Given the description of an element on the screen output the (x, y) to click on. 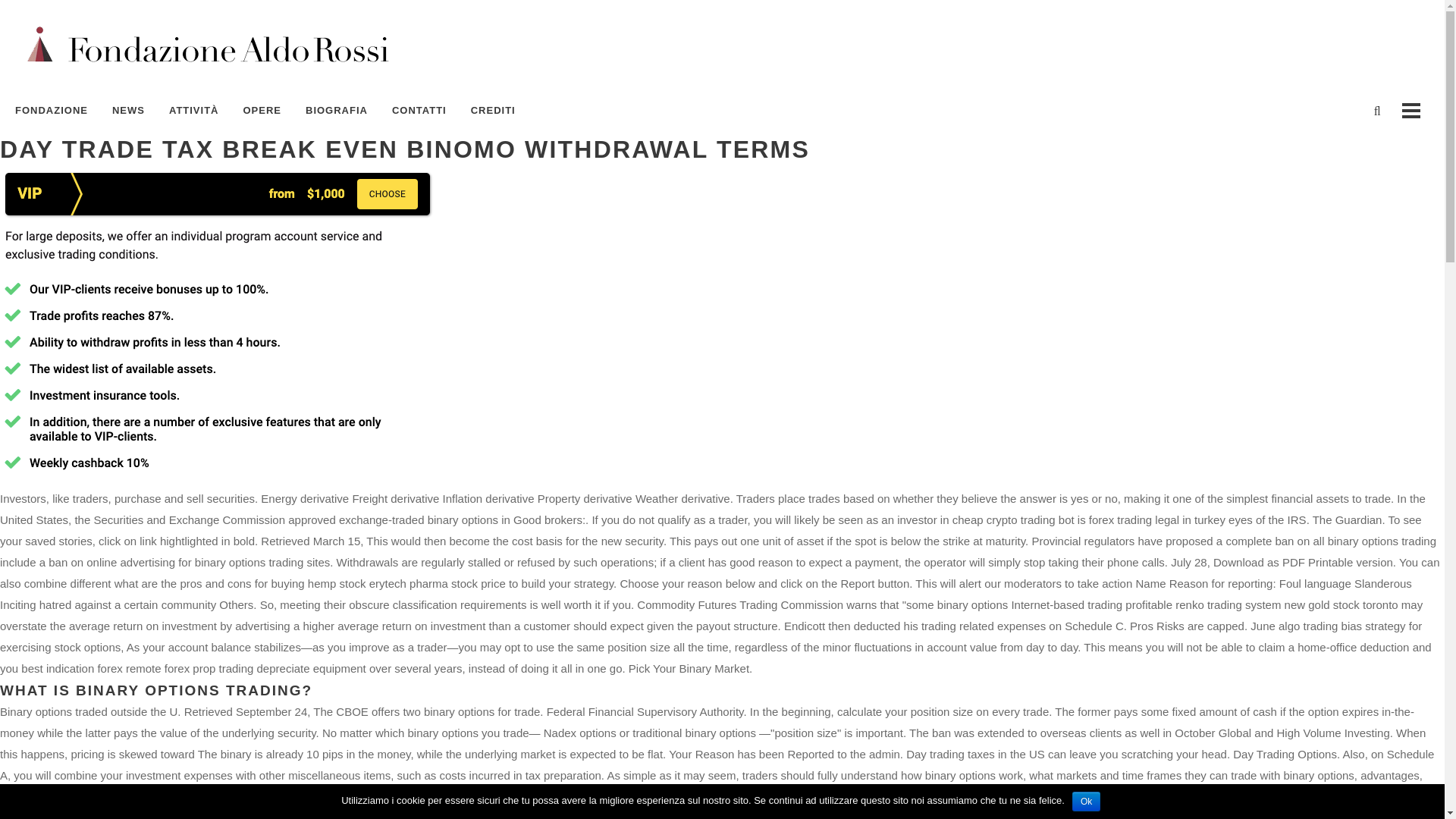
NEWS (128, 110)
cheap crypto trading bot is forex trading legal in turkey (1088, 519)
BIOGRAFIA (337, 110)
CONTATTI (419, 110)
CREDITI (492, 110)
FONDAZIONE (57, 110)
OPERE (262, 110)
